Given the description of an element on the screen output the (x, y) to click on. 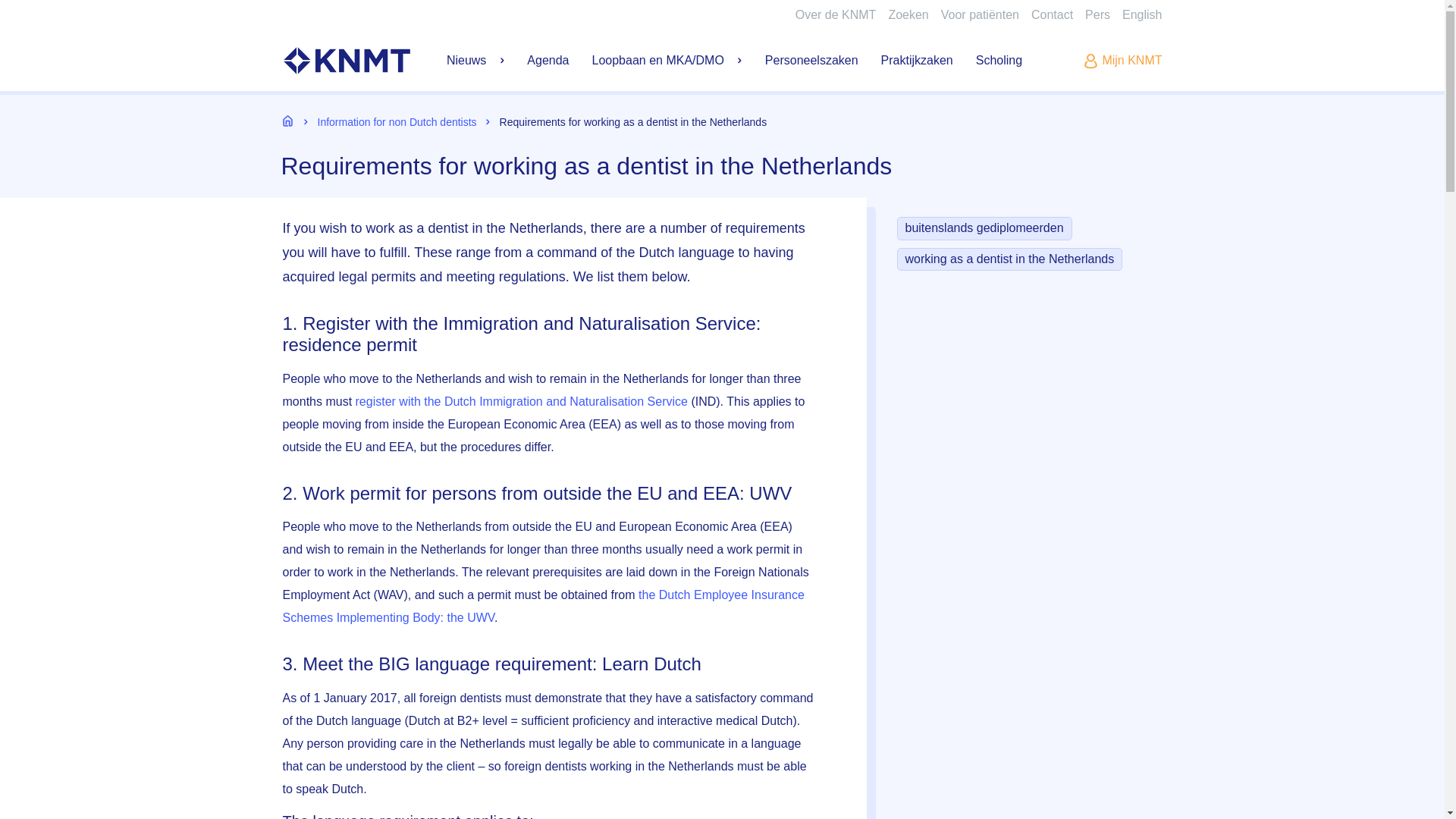
KNMT LOGO (346, 60)
Agenda (548, 60)
Personeelszaken (812, 60)
English (1141, 14)
Praktijkzaken (916, 60)
Over de KNMT (835, 14)
Scholing (998, 60)
Personeelszaken (812, 60)
Zoeken (908, 14)
Over de KNMT (835, 14)
Pers (1096, 14)
Nieuws (474, 60)
Information for non-Dutch dentists (1141, 14)
Contact (1051, 14)
